Given the description of an element on the screen output the (x, y) to click on. 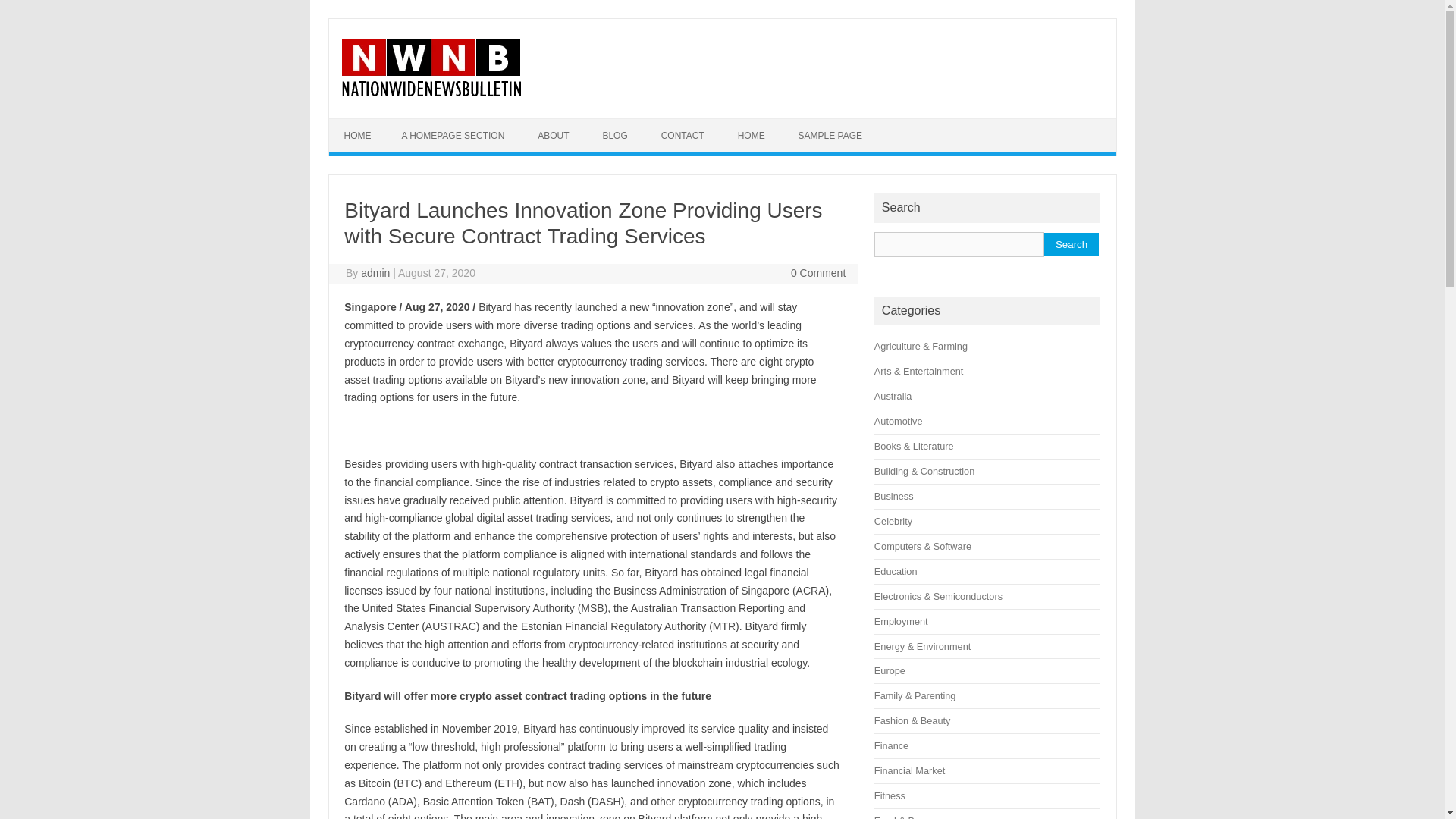
BLOG (614, 135)
Business (894, 496)
Search (1070, 244)
SAMPLE PAGE (830, 135)
A HOMEPAGE SECTION (453, 135)
ABOUT (552, 135)
admin (375, 272)
Skip to content (363, 122)
HOME (358, 135)
Education (896, 571)
Posts by admin (375, 272)
Finance (891, 745)
Automotive (899, 420)
Nationwide News bulletin (429, 92)
Fitness (890, 795)
